Given the description of an element on the screen output the (x, y) to click on. 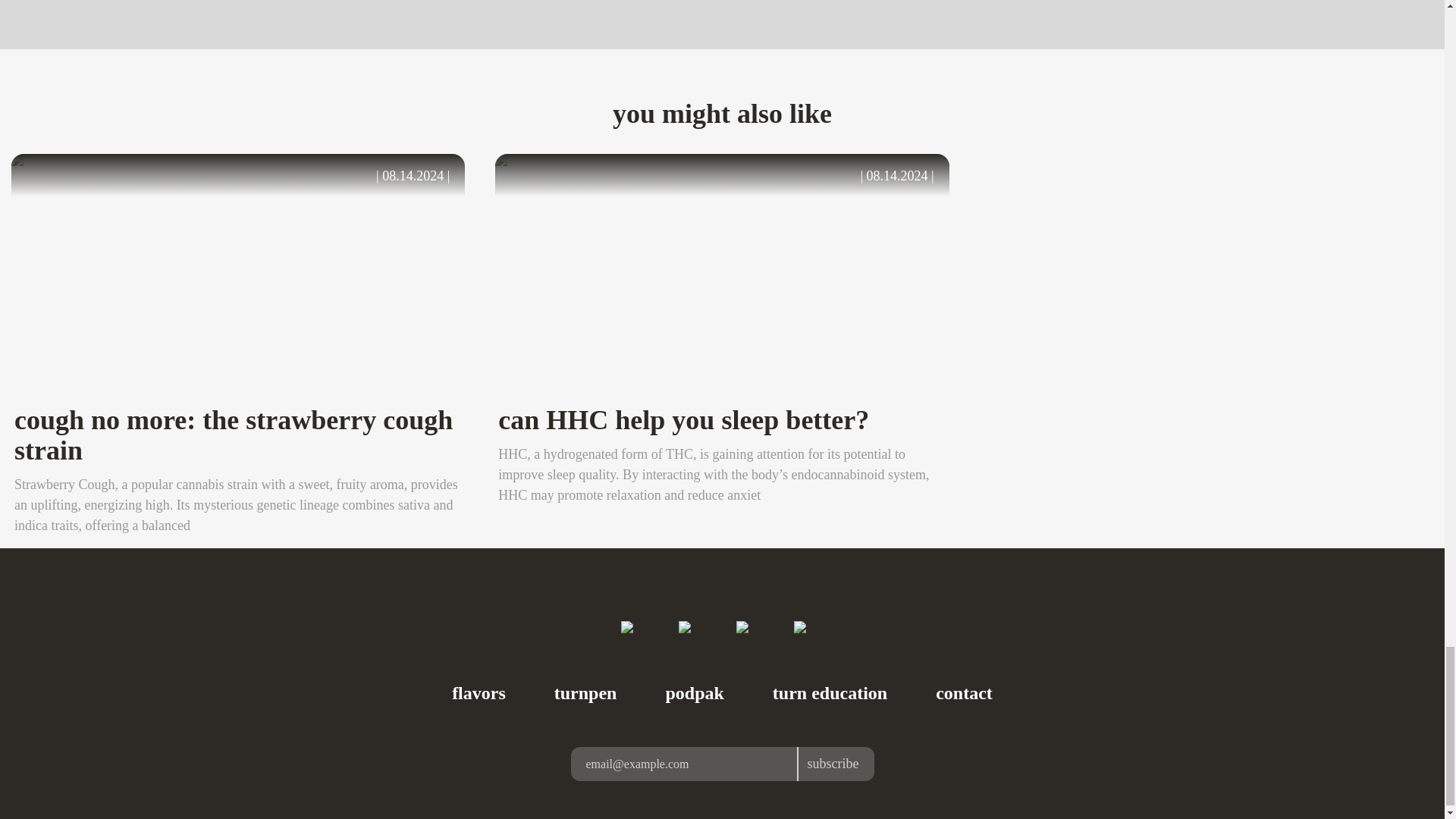
turn education (829, 692)
flavors (478, 692)
contact (964, 692)
turnpen (585, 692)
podpak (694, 692)
